Given the description of an element on the screen output the (x, y) to click on. 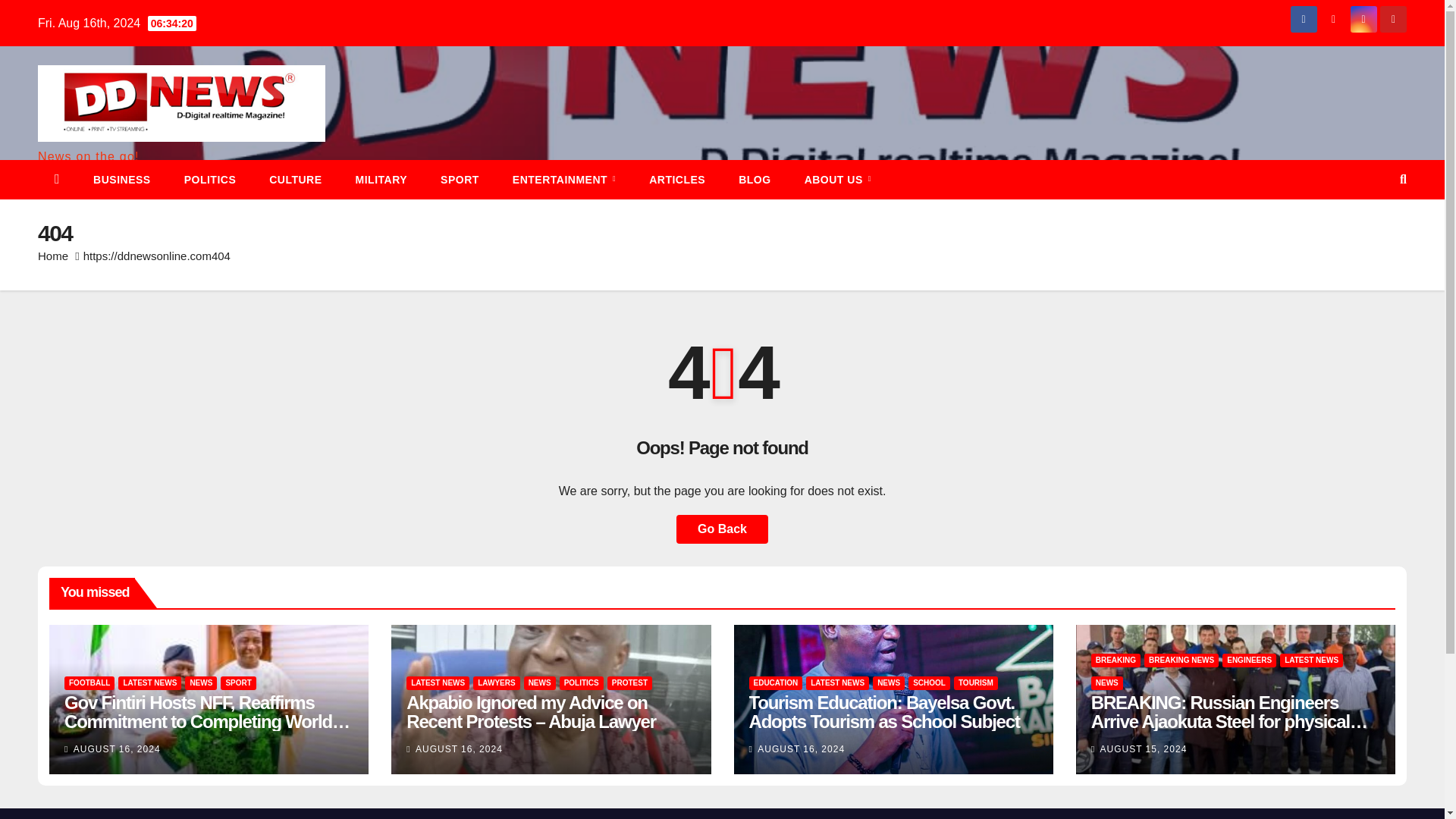
Military (382, 179)
BUSINESS (122, 179)
Politics (210, 179)
CULTURE (294, 179)
NEWS (200, 683)
SPORT (459, 179)
ENTERTAINMENT (563, 179)
SPORT (238, 683)
Business (122, 179)
